Given the description of an element on the screen output the (x, y) to click on. 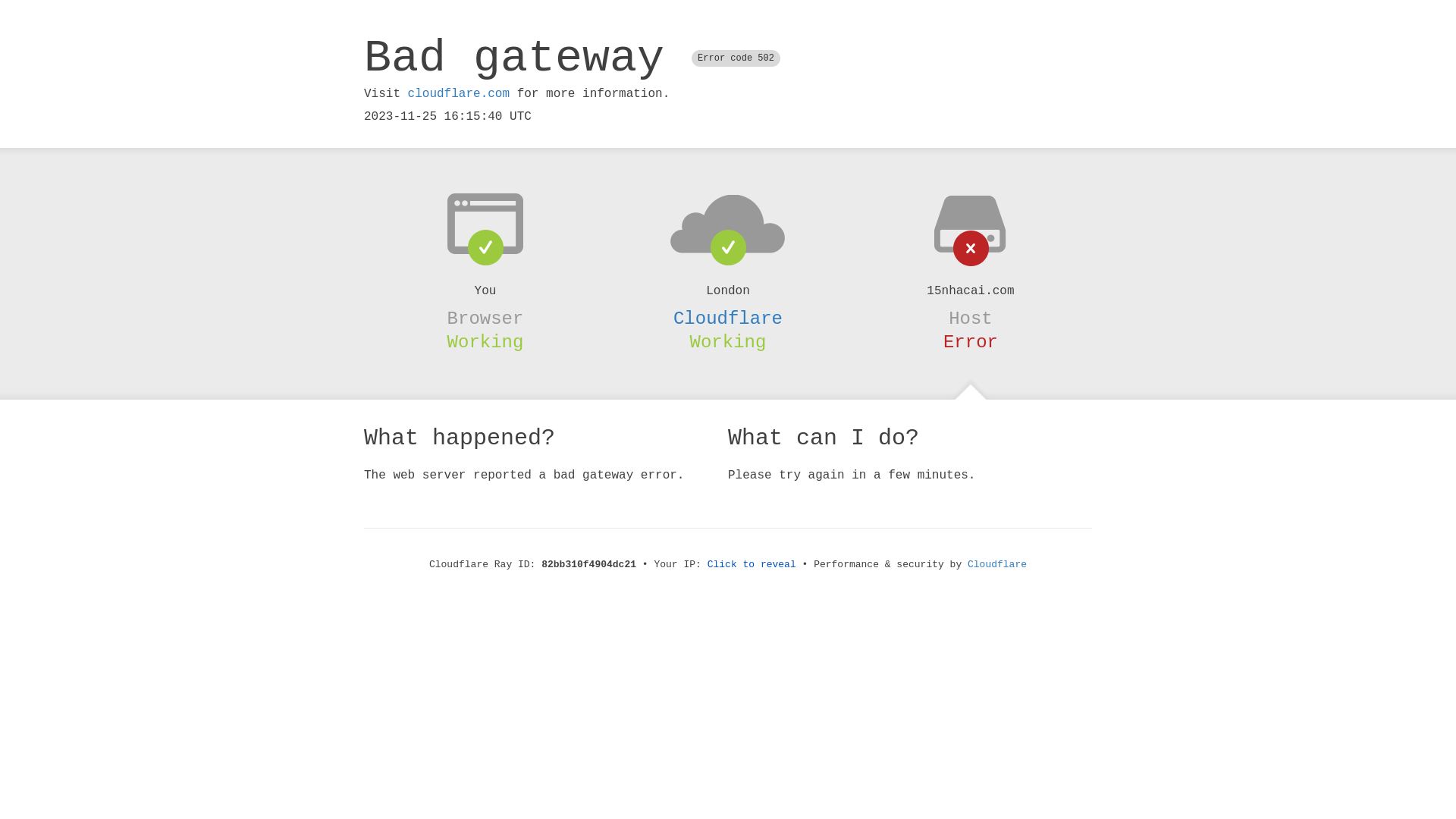
Cloudflare Element type: text (996, 564)
Click to reveal Element type: text (751, 564)
cloudflare.com Element type: text (458, 93)
Cloudflare Element type: text (727, 318)
